Given the description of an element on the screen output the (x, y) to click on. 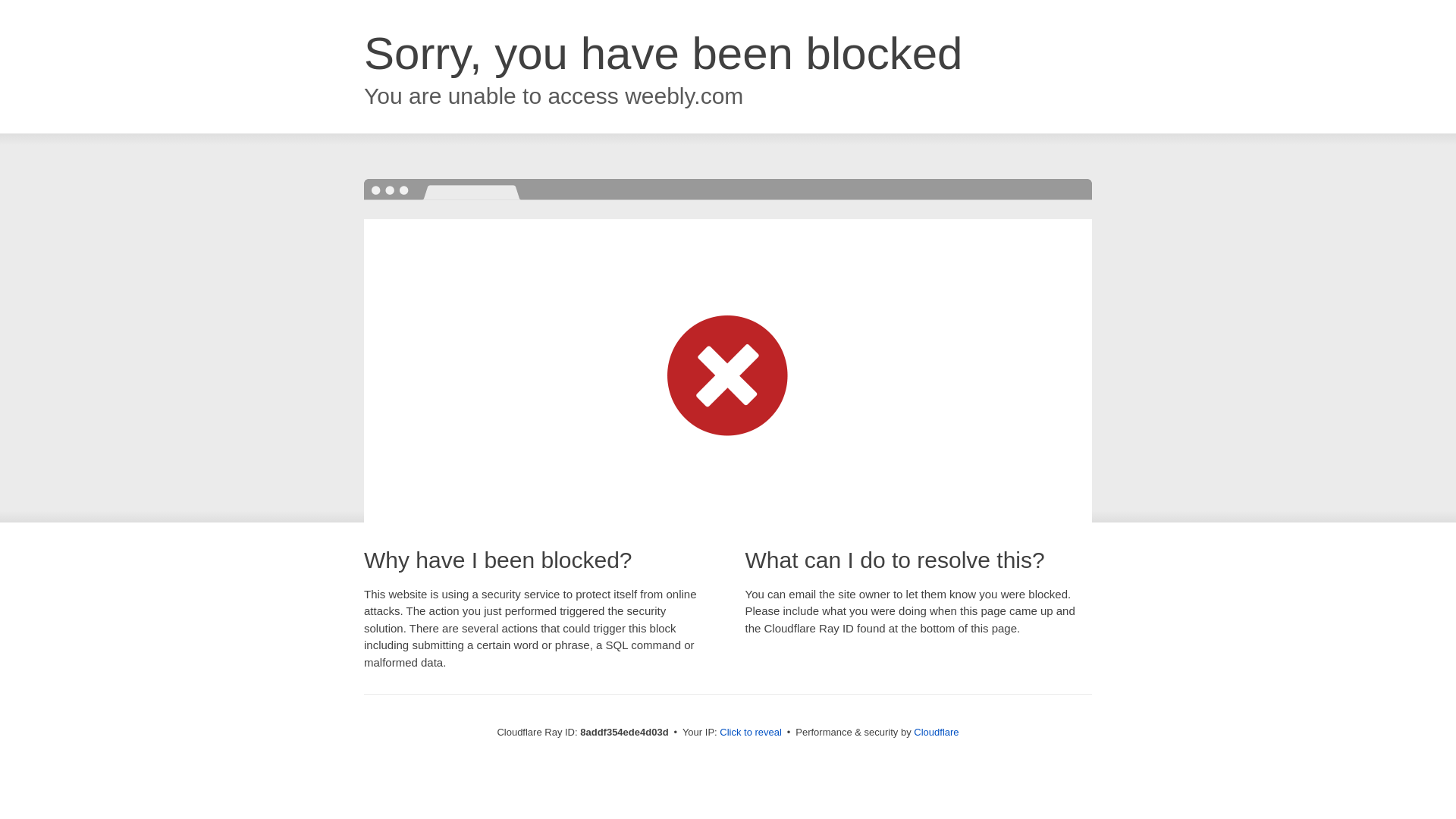
Cloudflare (936, 731)
Click to reveal (750, 732)
